Given the description of an element on the screen output the (x, y) to click on. 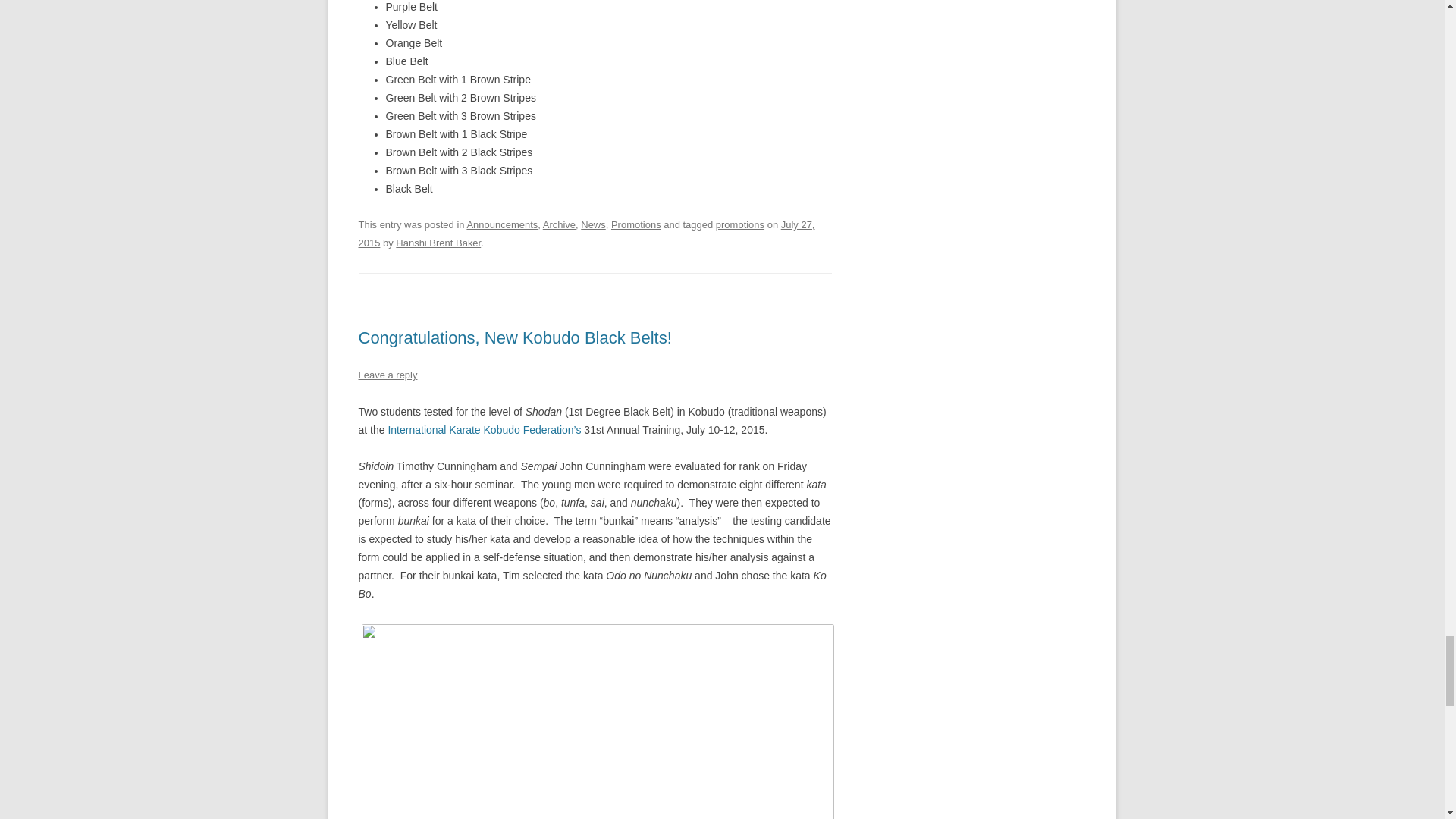
6:46 am (585, 233)
